Given the description of an element on the screen output the (x, y) to click on. 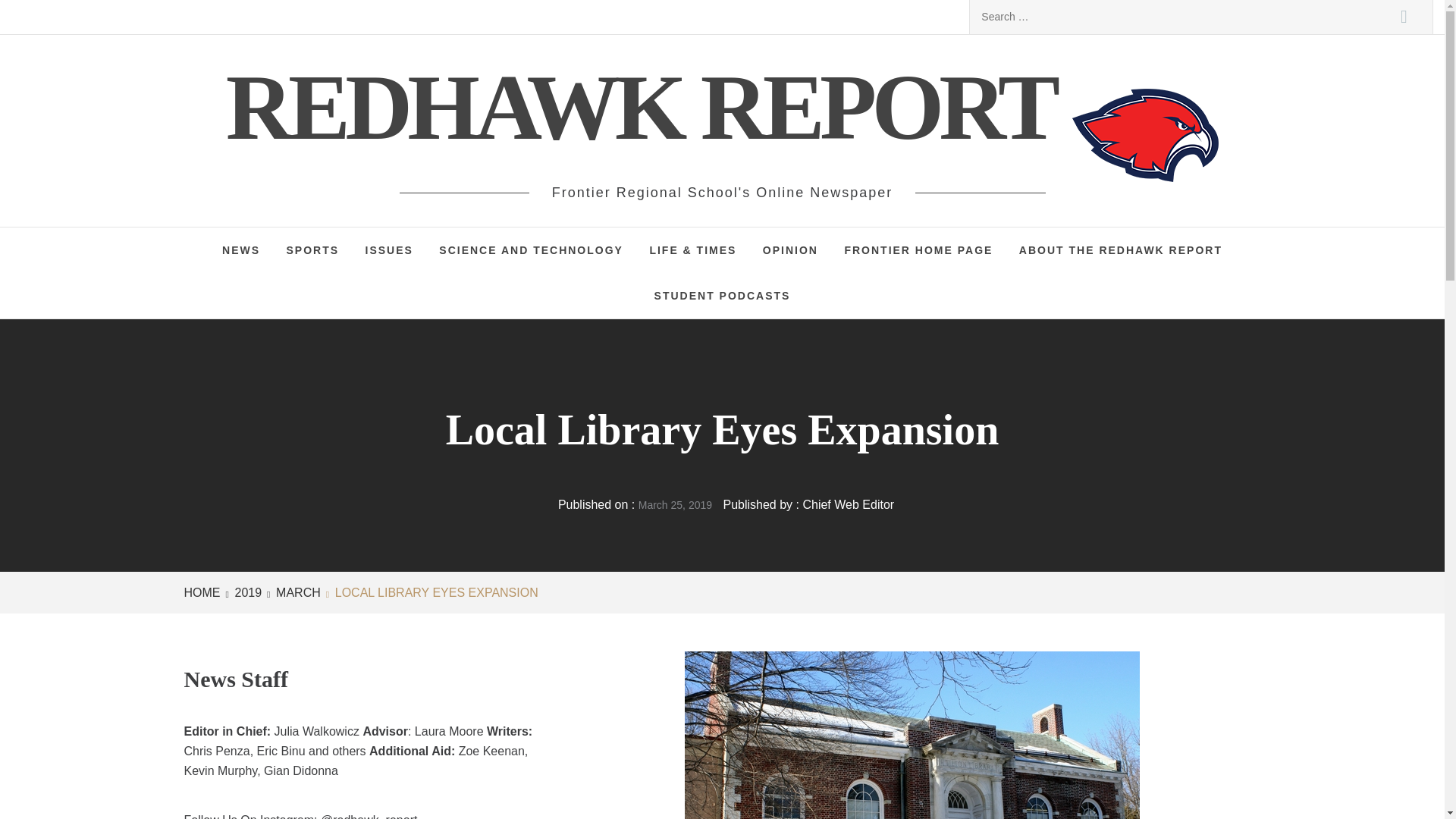
Search (1403, 17)
Chief Web Editor (847, 504)
Search (1403, 17)
2019 (246, 592)
March 25, 2019 (675, 504)
SCIENCE AND TECHNOLOGY (531, 249)
REDHAWK REPORT (648, 106)
OPINION (790, 249)
NEWS (240, 249)
STUDENT PODCASTS (722, 295)
Search (1403, 17)
MARCH (296, 592)
FRONTIER HOME PAGE (918, 249)
ABOUT THE REDHAWK REPORT (1120, 249)
HOME (204, 592)
